Given the description of an element on the screen output the (x, y) to click on. 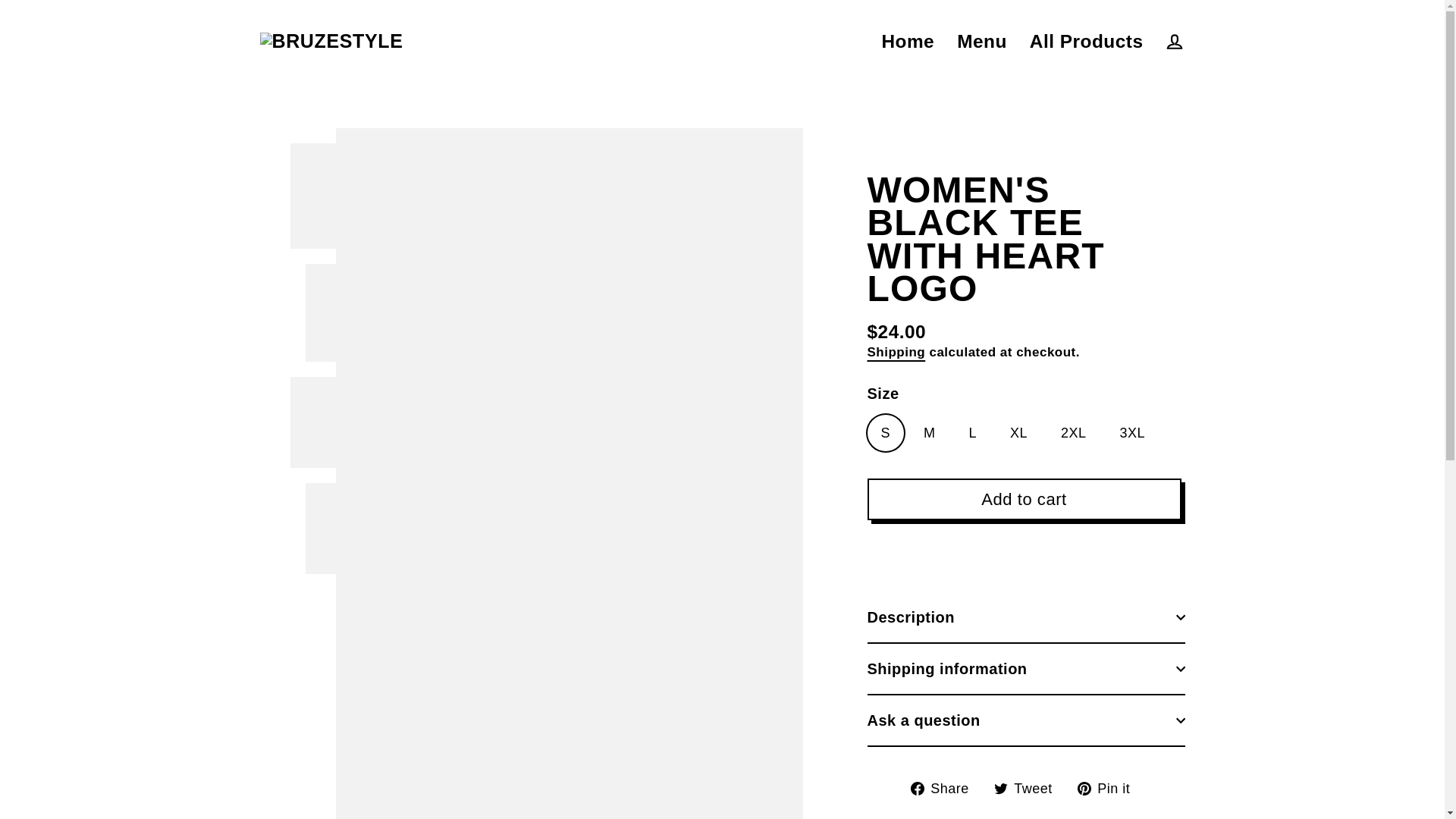
All Products (1085, 40)
L (1029, 788)
XL (1029, 788)
Description (945, 788)
Shipping information (1026, 617)
Log in (1026, 668)
Add to cart (1173, 41)
Pin on Pinterest (1023, 499)
Ask a question (1109, 788)
